Given the description of an element on the screen output the (x, y) to click on. 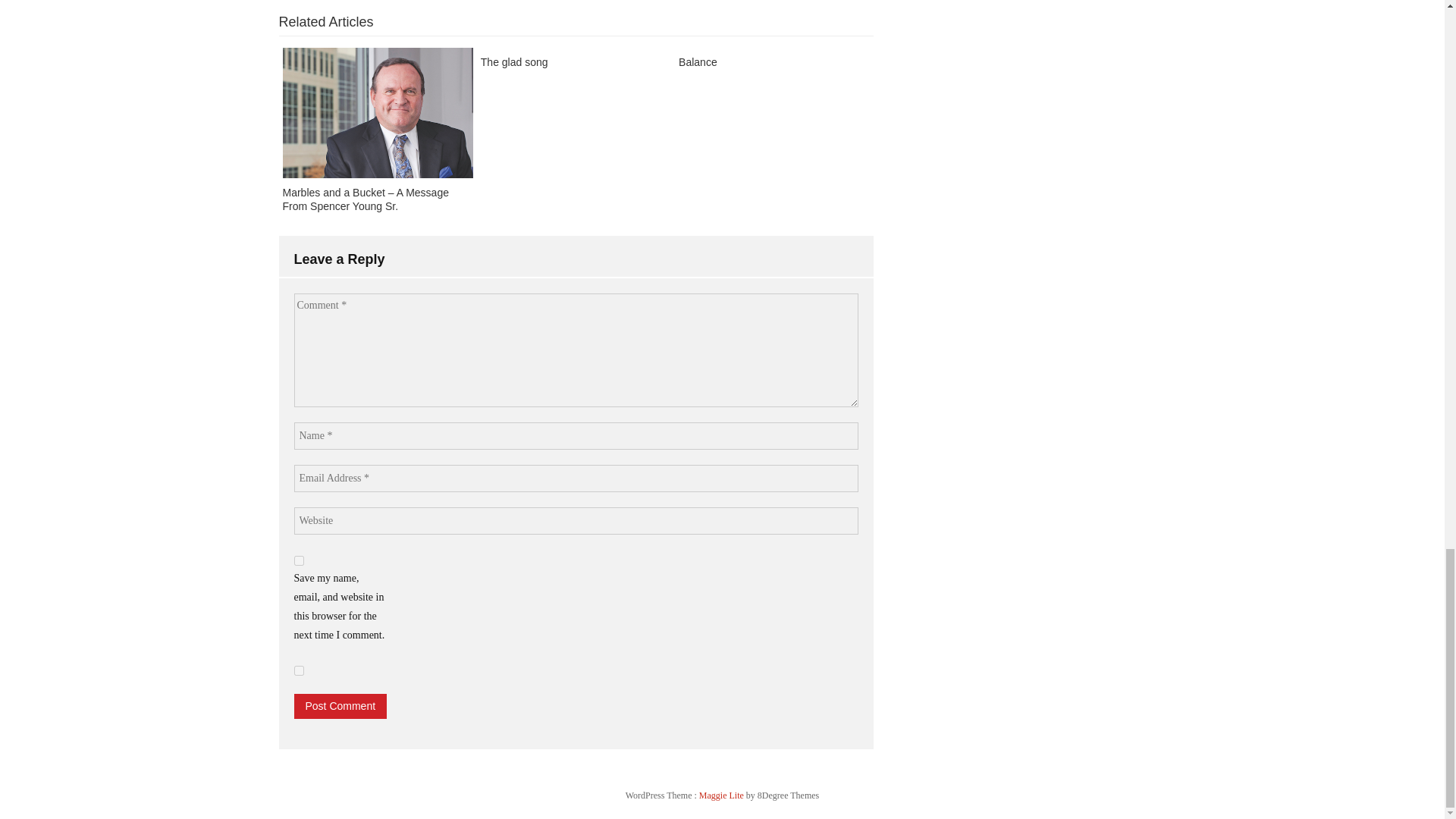
yes (299, 670)
yes (299, 560)
Post Comment (340, 706)
Free WordPress Theme (721, 795)
